Given the description of an element on the screen output the (x, y) to click on. 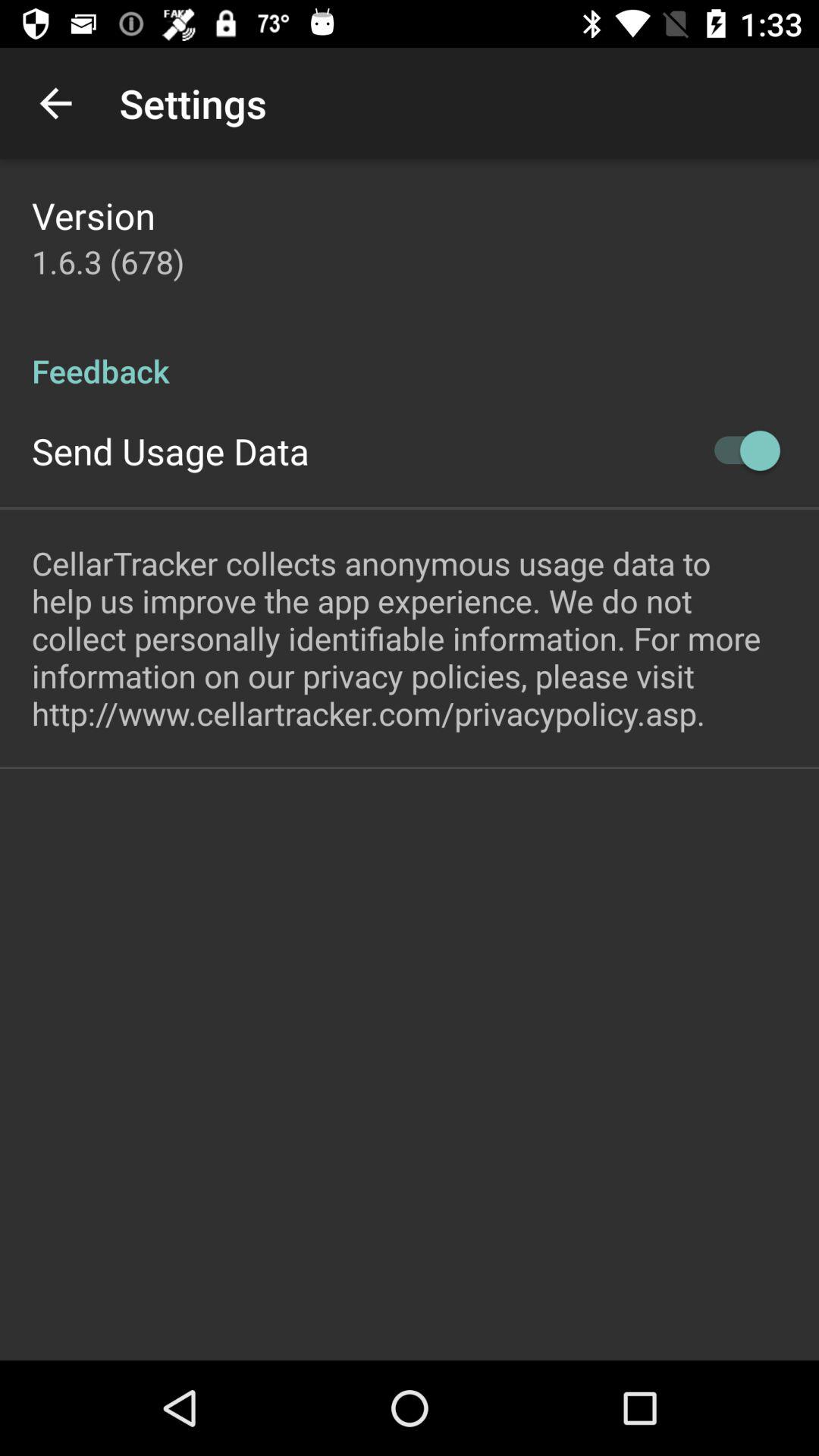
turn off item below 1 6 3 (409, 354)
